Given the description of an element on the screen output the (x, y) to click on. 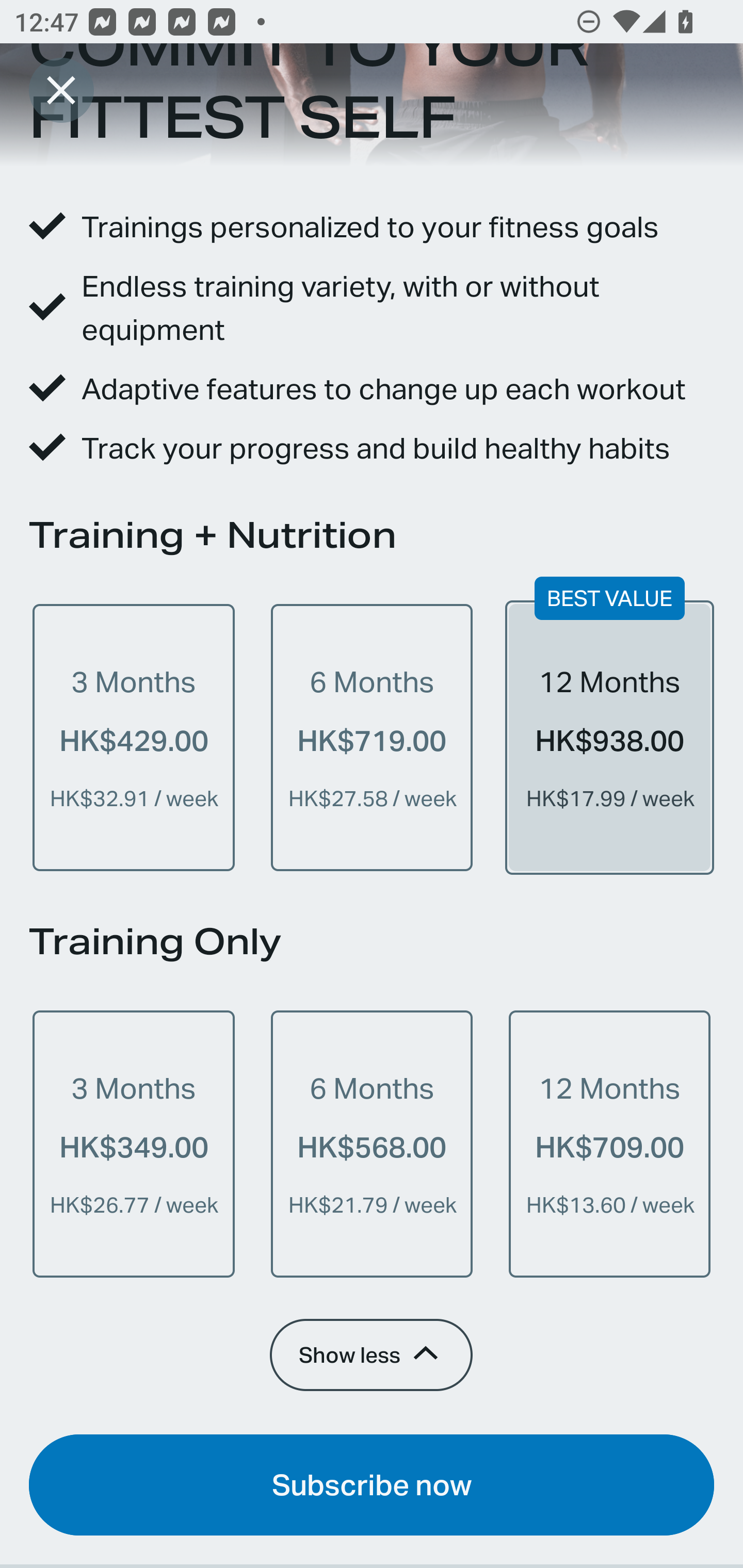
Close (60, 90)
3 Months HK$429.00 HK$32.91 / week (133, 737)
6 Months HK$719.00 HK$27.58 / week (371, 737)
12 Months HK$938.00 HK$17.99 / week (609, 737)
3 Months HK$349.00 HK$26.77 / week (133, 1143)
6 Months HK$568.00 HK$21.79 / week (371, 1143)
12 Months HK$709.00 HK$13.60 / week (609, 1143)
Show less (370, 1354)
Subscribe now (371, 1484)
